Given the description of an element on the screen output the (x, y) to click on. 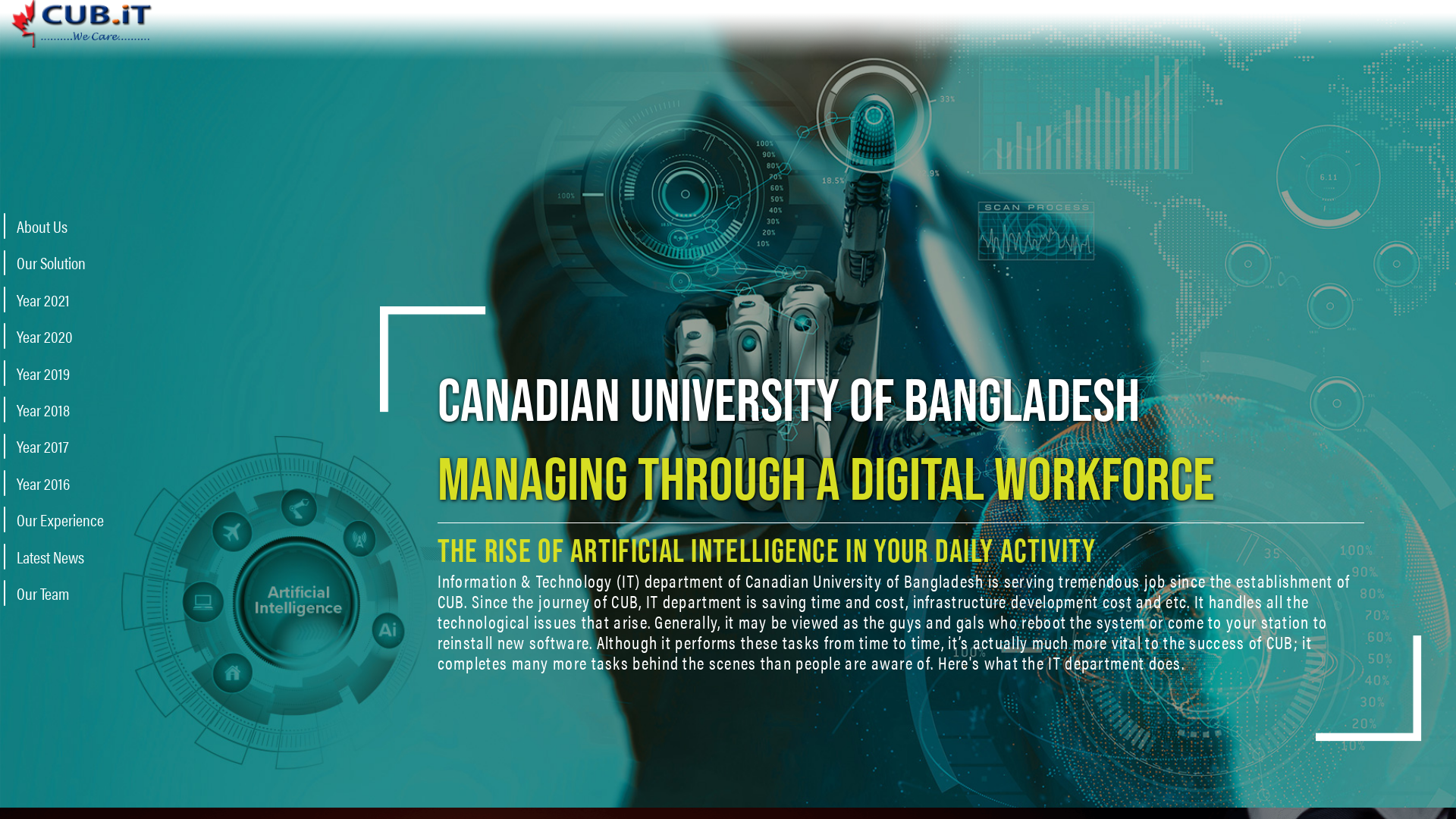
Year 2018 Element type: text (58, 409)
Latest News Element type: text (58, 555)
Skip to main content Element type: text (727, 1)
Year 2019 Element type: text (58, 372)
About Us Element type: text (58, 225)
Year 2016 Element type: text (58, 482)
Our Solution Element type: text (58, 262)
Year 2021 Element type: text (58, 299)
Year 2020 Element type: text (58, 335)
Our Experience Element type: text (58, 519)
Year 2017 Element type: text (58, 445)
Our Team Element type: text (58, 592)
